Given the description of an element on the screen output the (x, y) to click on. 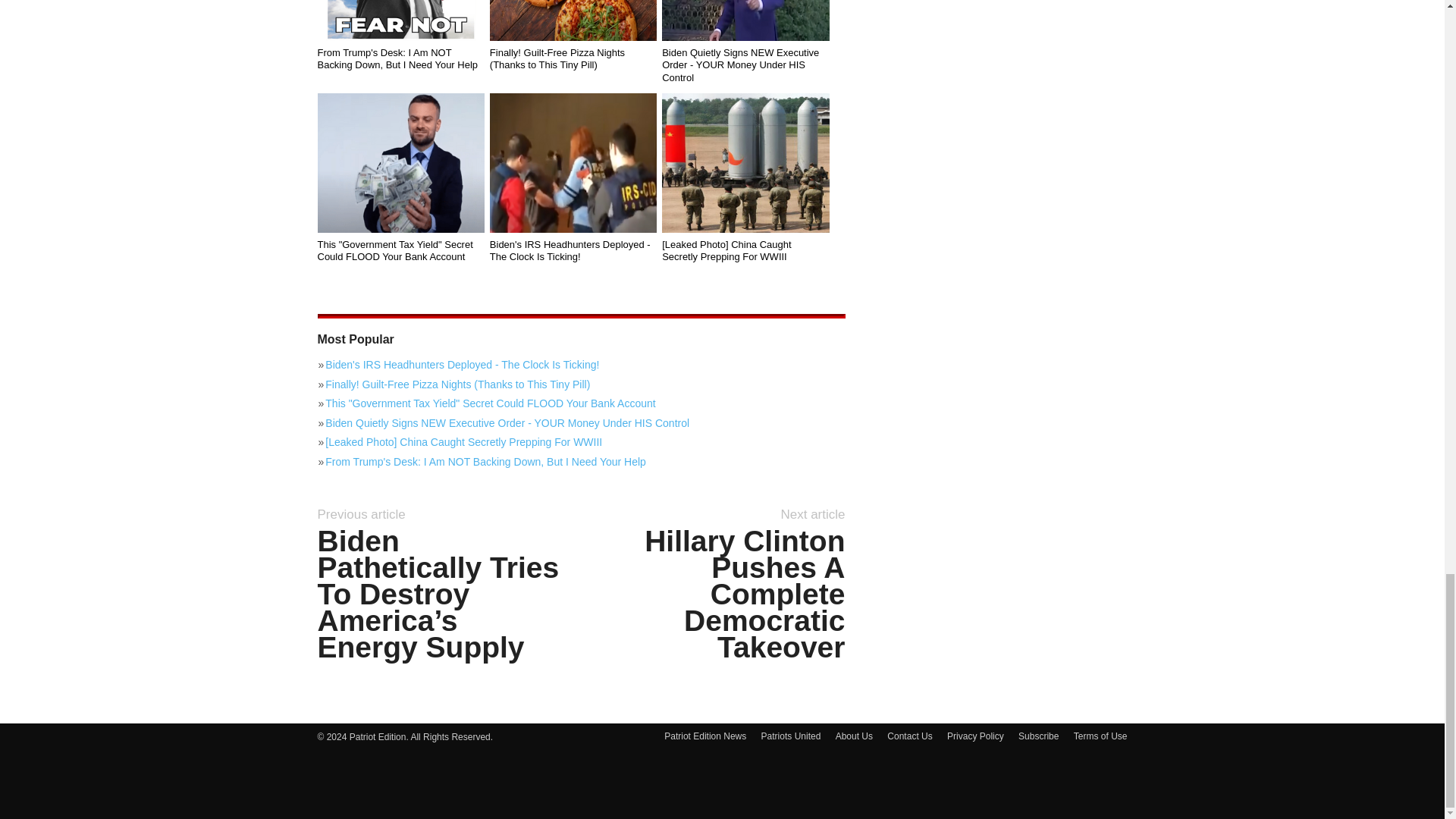
This  (400, 162)
Biden's IRS Headhunters Deployed - The Clock Is Ticking! (580, 364)
Biden's IRS Headhunters Deployed - The Clock Is Ticking! (572, 162)
Biden's IRS Headhunters Deployed - The Clock Is Ticking! (572, 250)
